Given the description of an element on the screen output the (x, y) to click on. 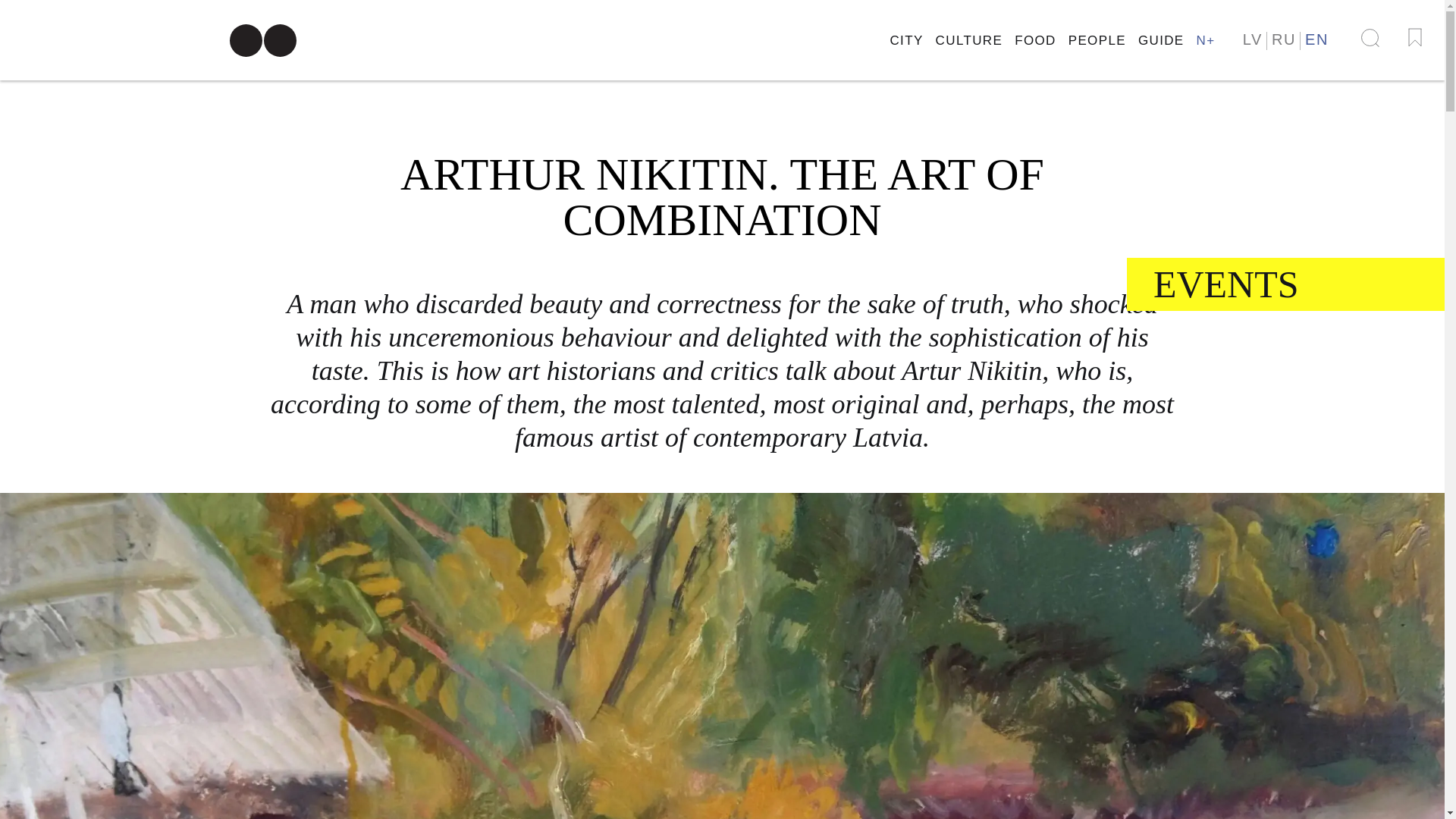
LV (1252, 38)
RU (1283, 38)
CULTURE (969, 40)
EN (1315, 38)
CITY (906, 40)
PEOPLE (1096, 40)
FOOD (1035, 40)
GUIDE (1161, 40)
